Given the description of an element on the screen output the (x, y) to click on. 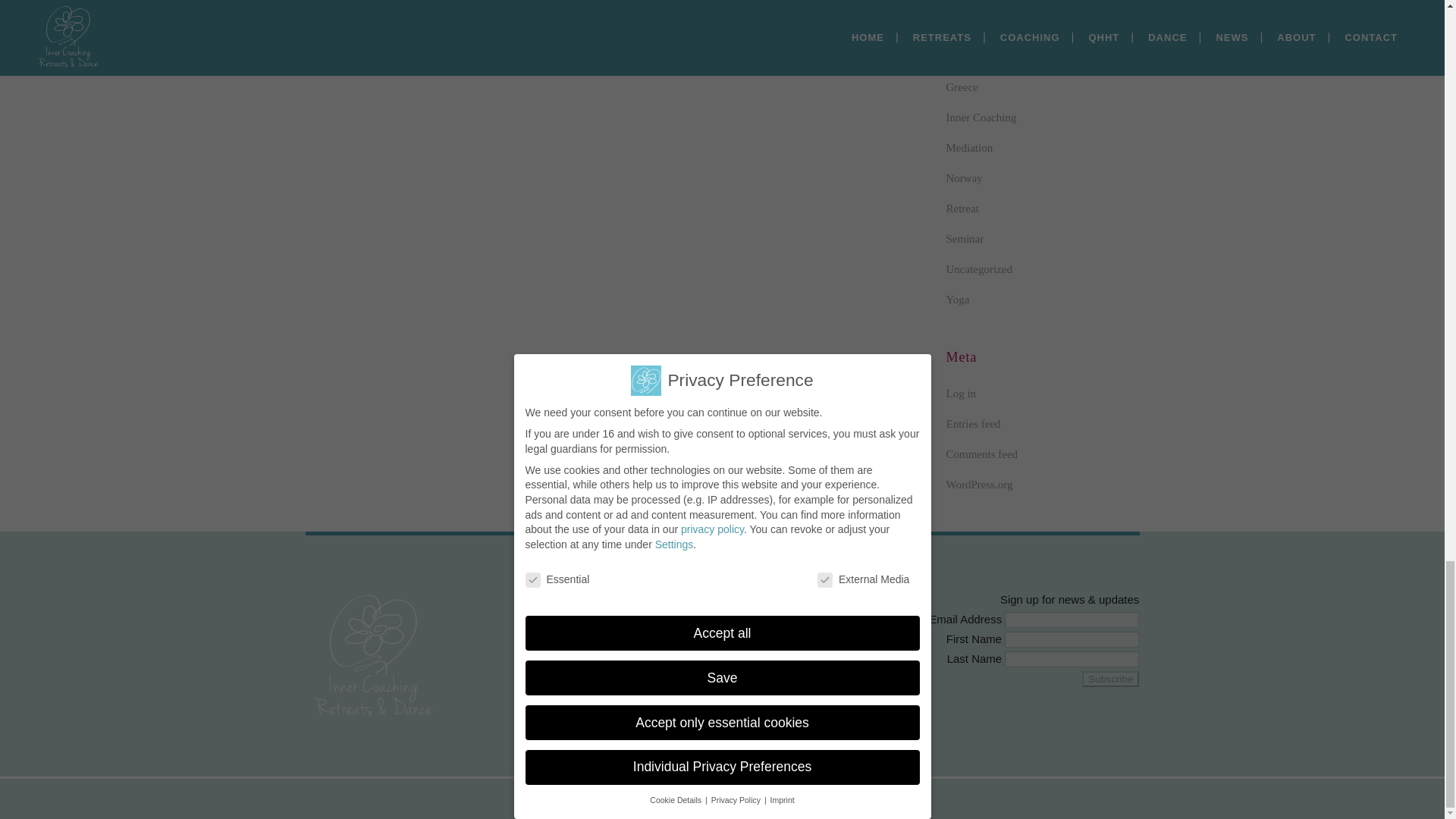
Subscribe (1109, 678)
